Given the description of an element on the screen output the (x, y) to click on. 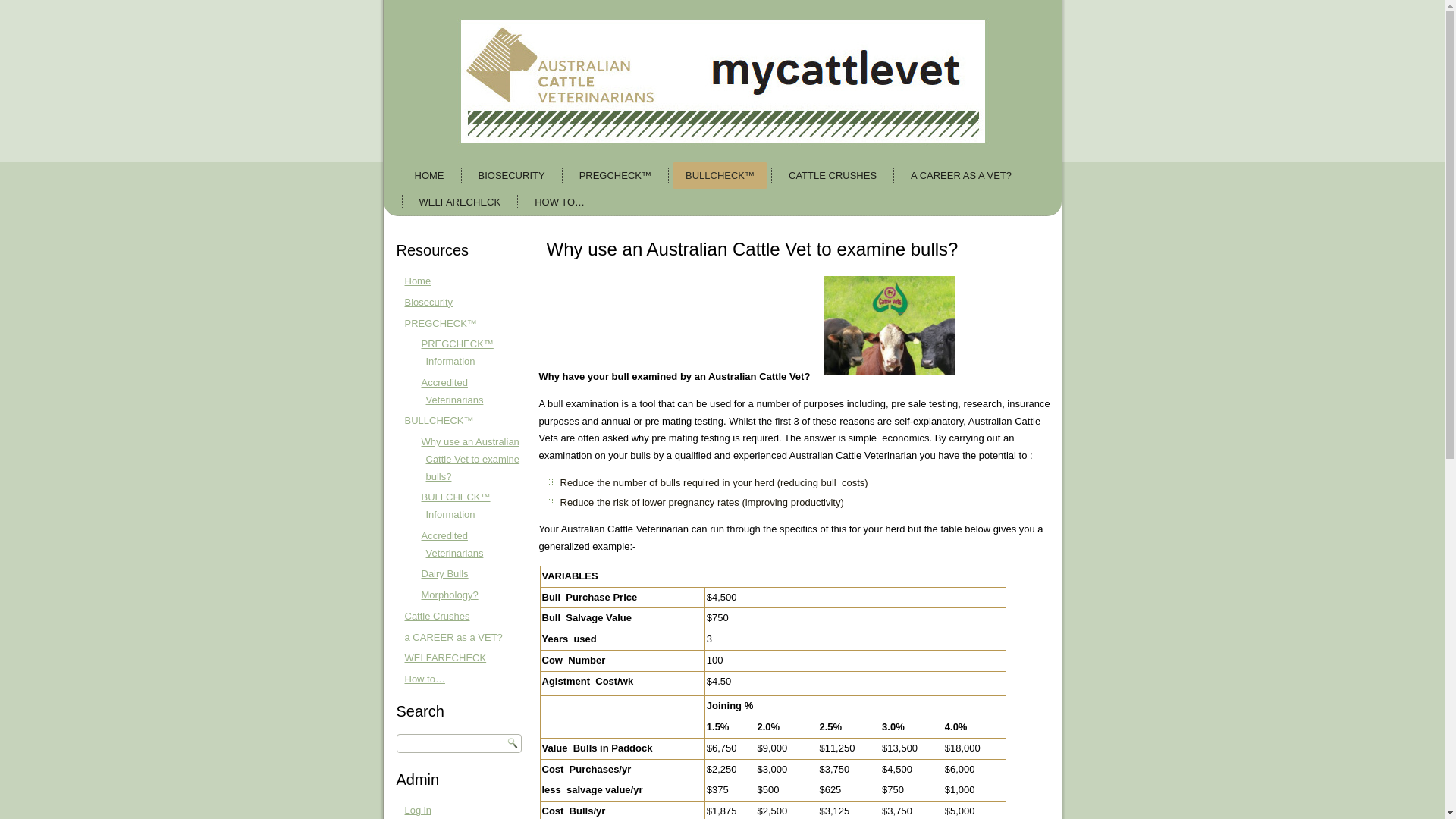
Home Element type: text (417, 280)
WELFARECHECK Element type: text (460, 201)
Biosecurity Element type: text (428, 301)
HOME Element type: text (429, 175)
Dairy Bulls Element type: text (444, 573)
a CAREER as a VET? Element type: text (453, 636)
Why use an Australian Cattle Vet to examine bulls? Element type: text (470, 459)
CATTLE CRUSHES Element type: text (832, 175)
A CAREER AS A VET? Element type: text (960, 175)
Morphology? Element type: text (449, 594)
Cattle Crushes Element type: text (437, 615)
Accredited Veterinarians Element type: text (452, 544)
BIOSECURITY Element type: text (511, 175)
WELFARECHECK Element type: text (445, 657)
Accredited Veterinarians Element type: text (452, 390)
Log in Element type: text (417, 809)
